Given the description of an element on the screen output the (x, y) to click on. 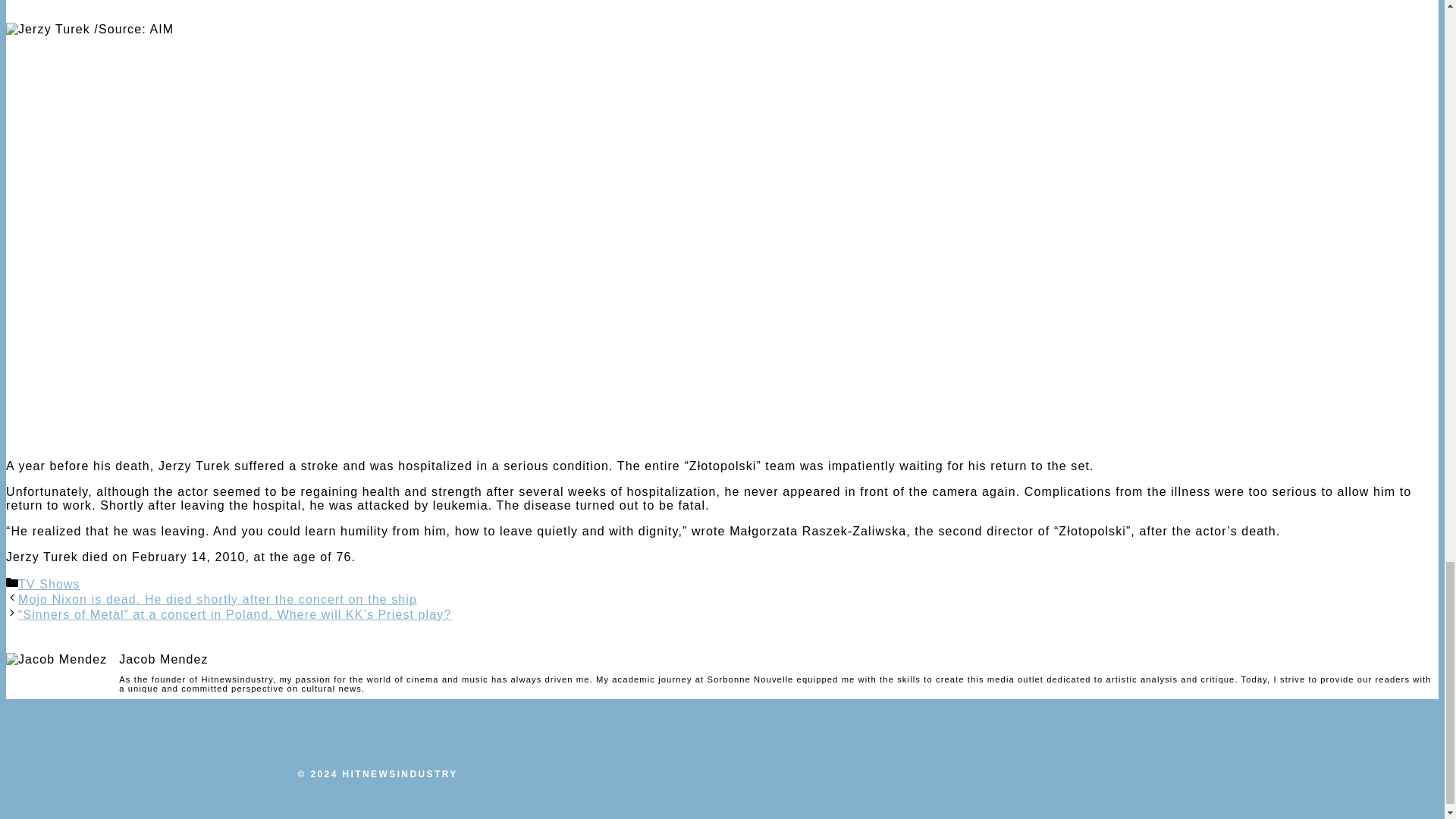
TV Shows (48, 584)
